Given the description of an element on the screen output the (x, y) to click on. 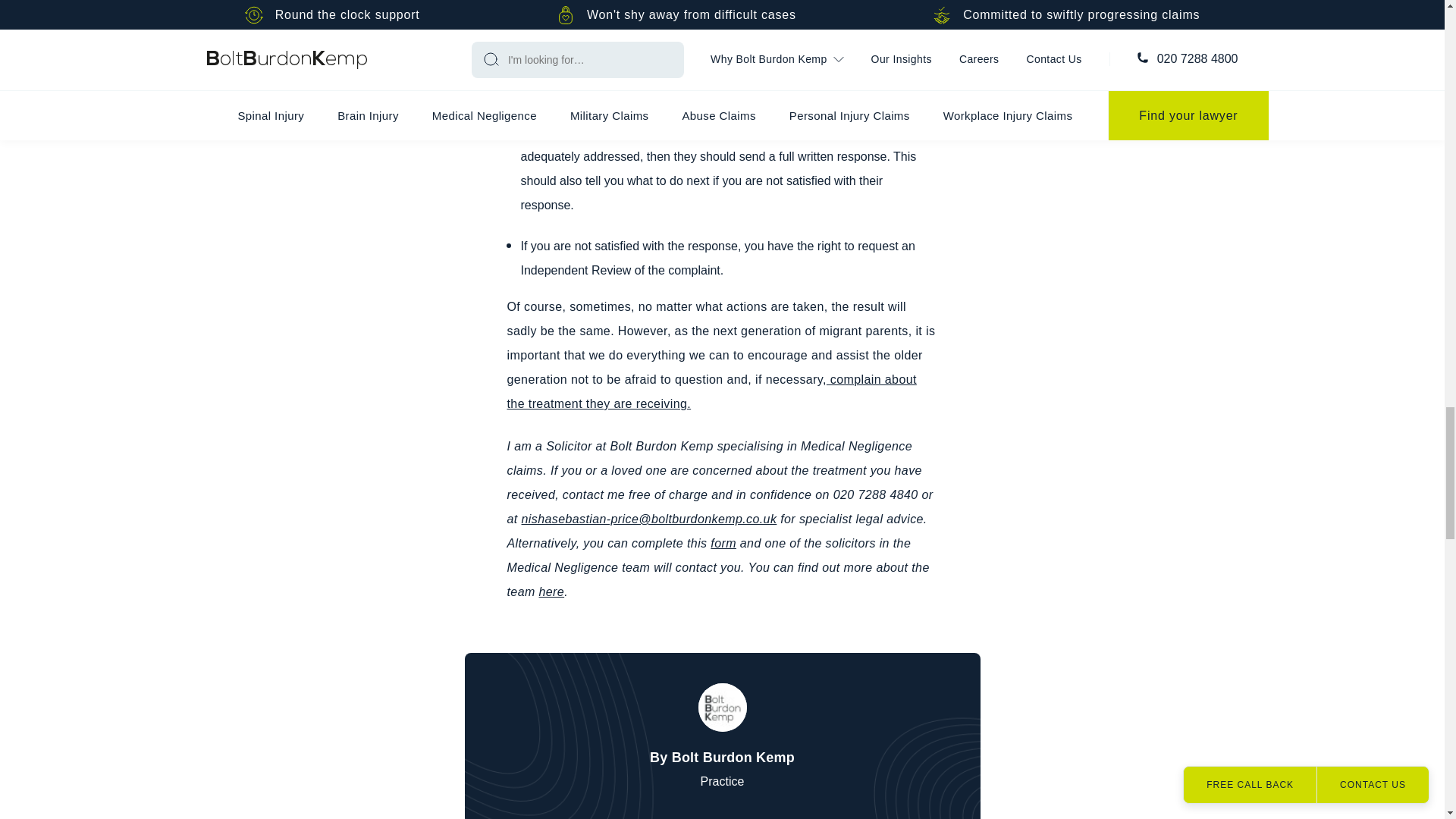
Bolt Burdon Kemp (721, 707)
